Given the description of an element on the screen output the (x, y) to click on. 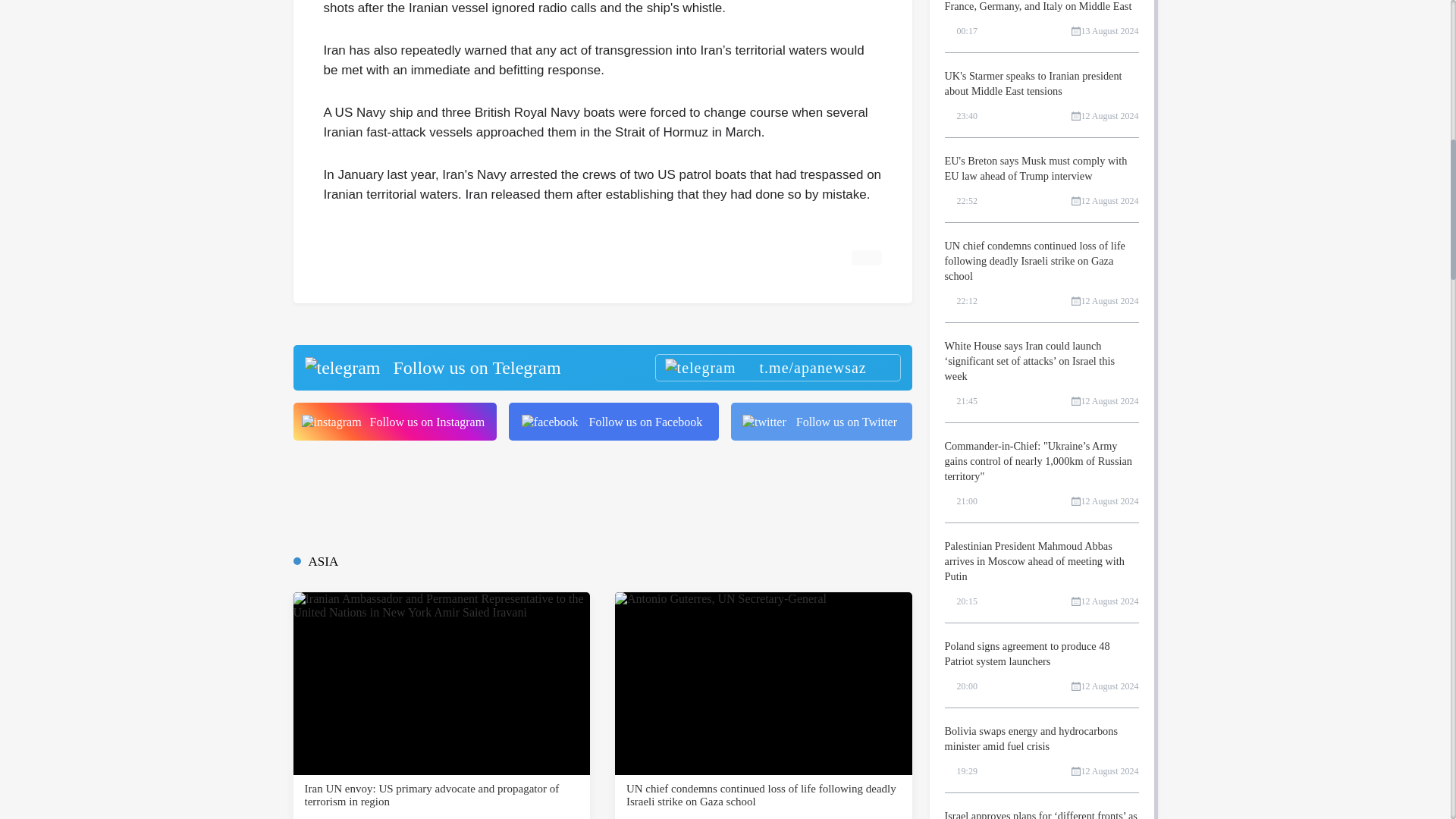
Follow us on Instagram (394, 421)
Follow us on Telegram (601, 367)
Follow us on Facebook (613, 421)
Follow us on Twitter (821, 421)
